Given the description of an element on the screen output the (x, y) to click on. 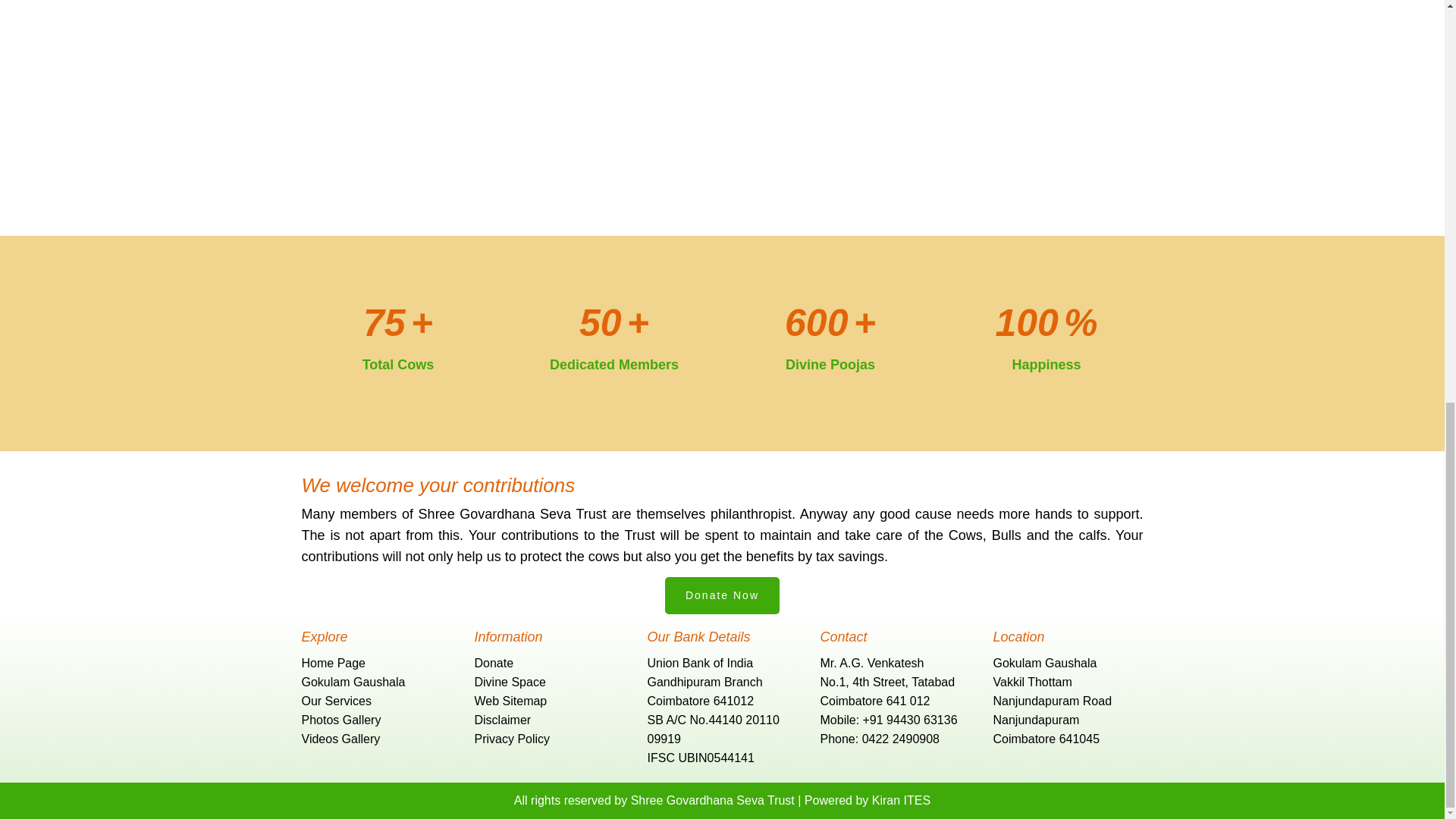
Coimbatore 641012 (700, 700)
Gandhipuram Branch (704, 681)
Privacy Policy (512, 738)
Union Bank of India (700, 662)
Kiran ITES (901, 799)
Photos Gallery (341, 719)
Web Sitemap (510, 700)
IFSC UBIN0544141 (700, 757)
Gokulam Gaushala (353, 681)
Our Services (336, 700)
Home Page (333, 662)
Donate (493, 662)
Disclaimer (502, 719)
Divine Space (510, 681)
Donate Now (721, 595)
